Given the description of an element on the screen output the (x, y) to click on. 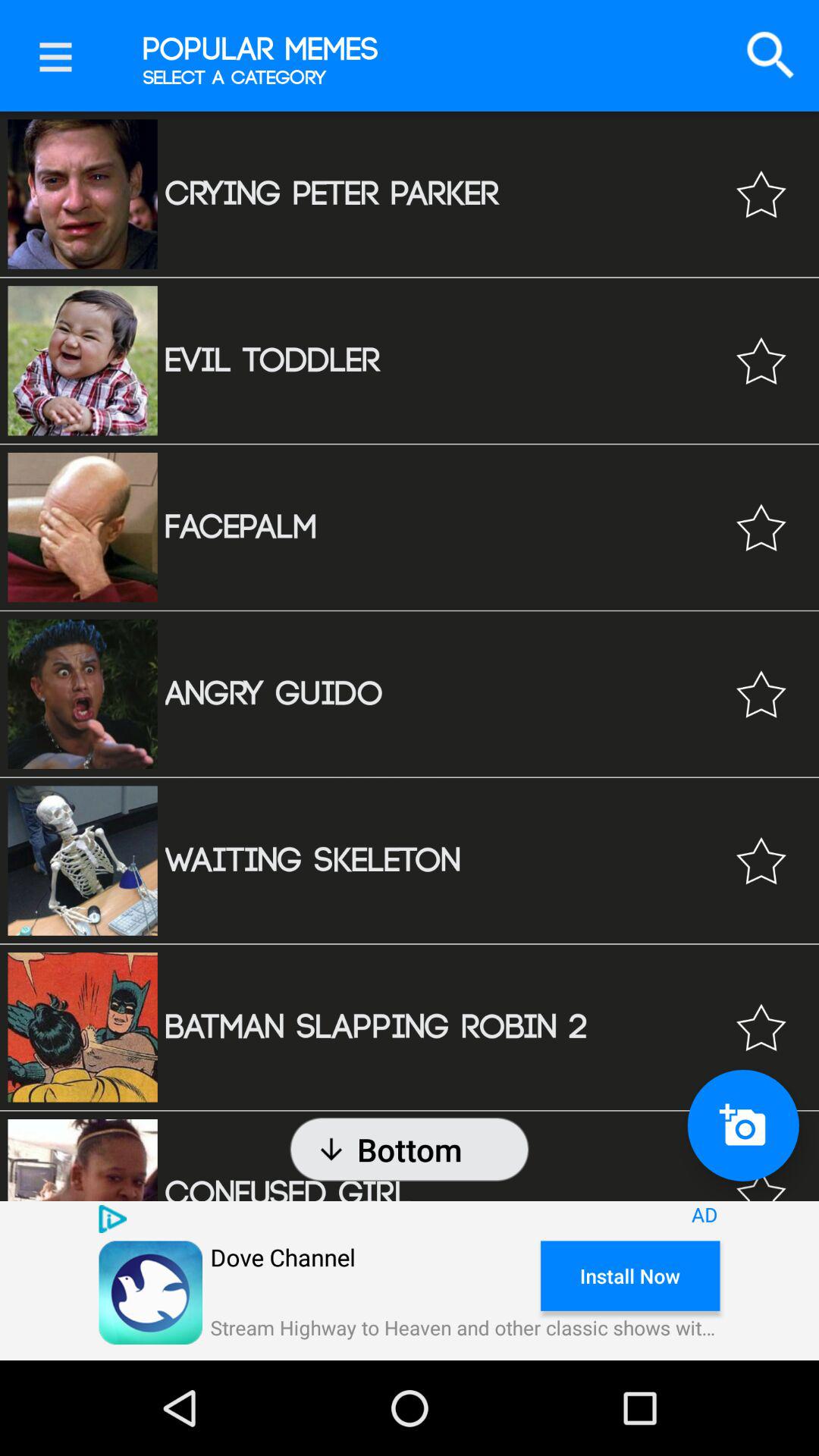
mark as favorite (761, 860)
